Given the description of an element on the screen output the (x, y) to click on. 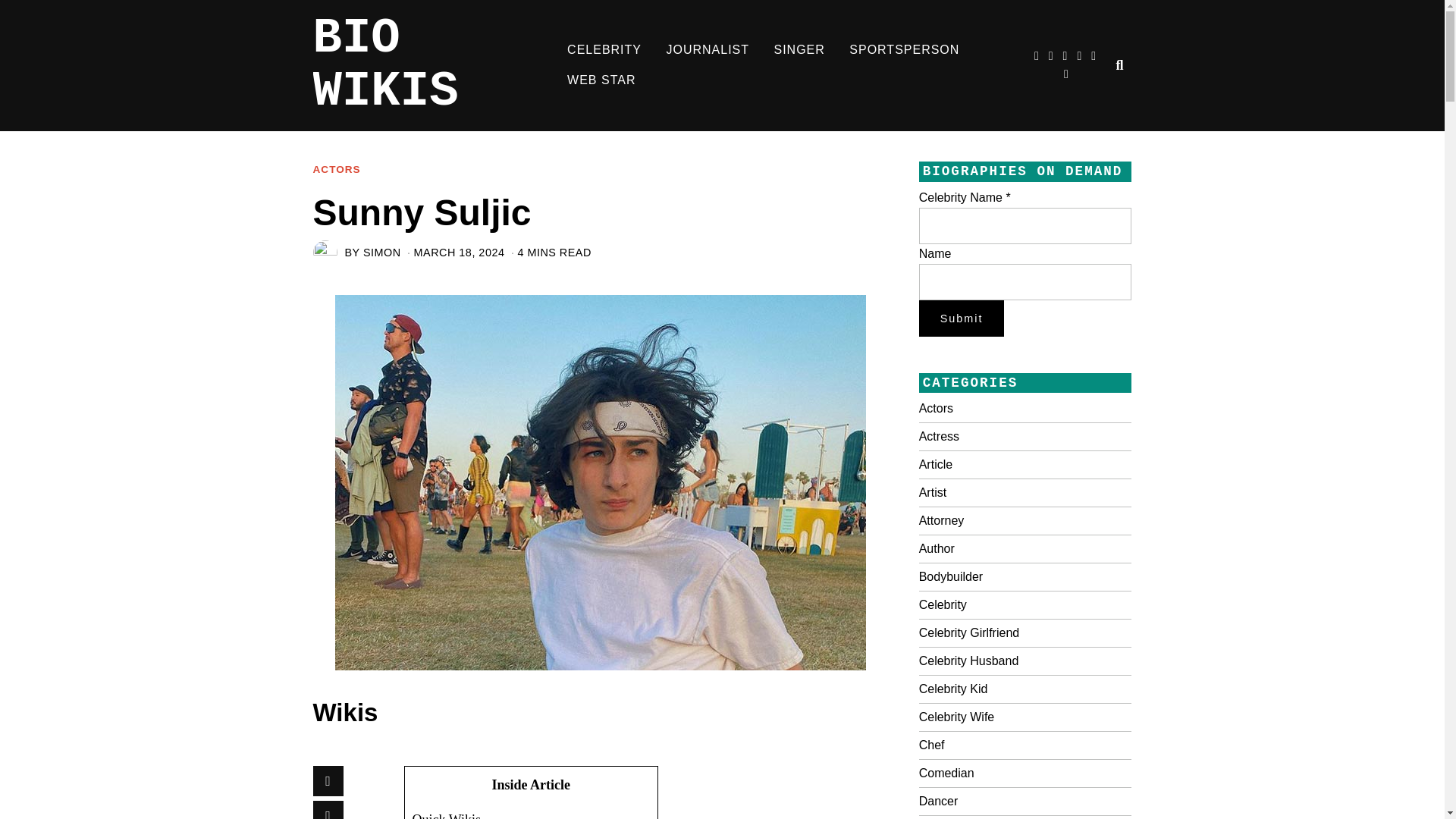
BIO WIKIS (434, 65)
SINGER (798, 50)
Quick Wikis (446, 815)
CELEBRITY (604, 50)
Messenger (327, 809)
SPORTSPERSON (903, 50)
ACTORS (336, 169)
JOURNALIST (707, 50)
Facebook (327, 780)
SIMON (381, 252)
